Given the description of an element on the screen output the (x, y) to click on. 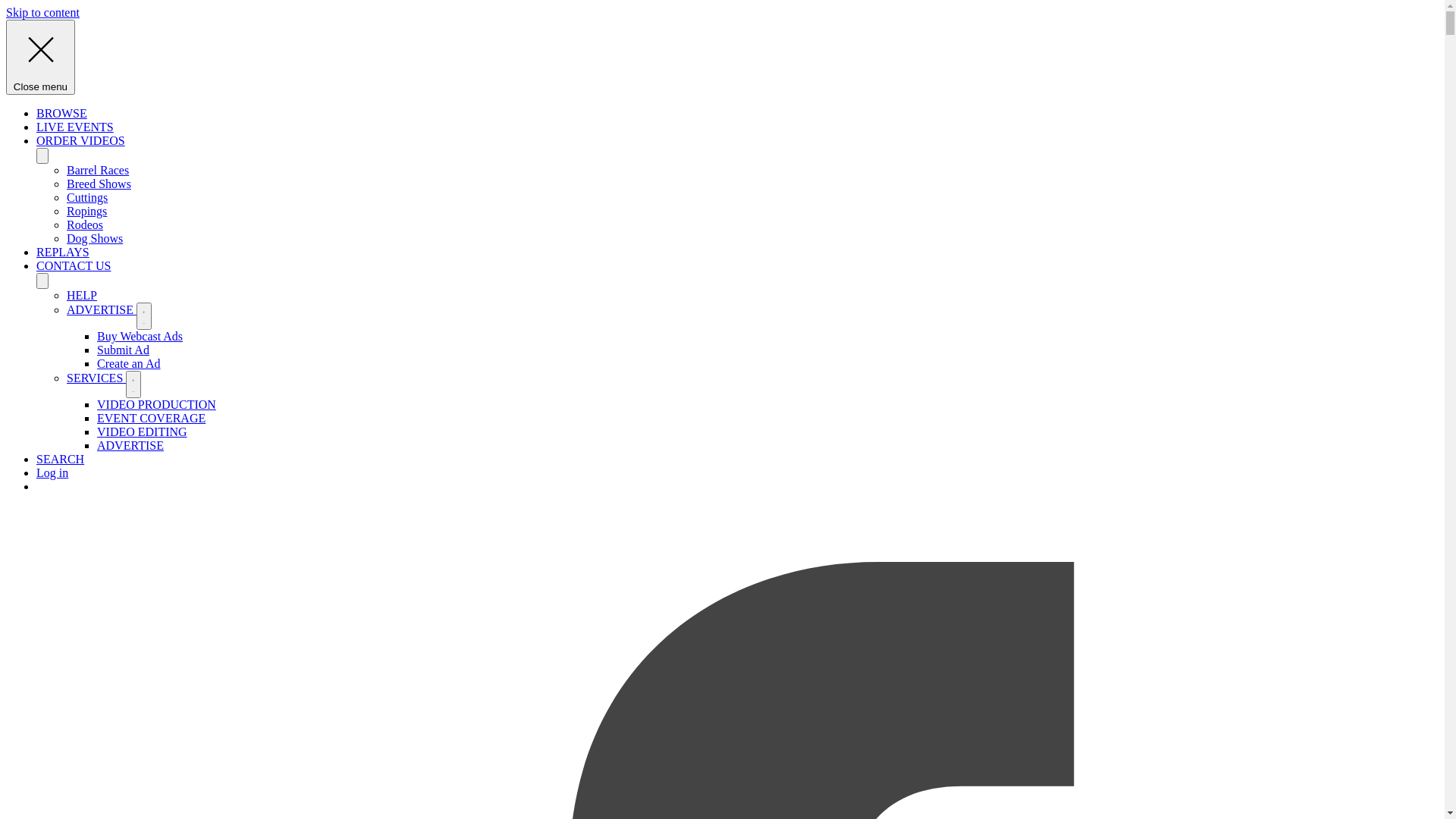
VIDEO EDITING Element type: text (142, 431)
SEARCH Element type: text (60, 458)
Dog Shows Element type: text (94, 238)
ORDER VIDEOS Element type: text (80, 140)
Ropings Element type: text (86, 210)
Create an Ad Element type: text (128, 363)
Buy Webcast Ads Element type: text (139, 335)
ADVERTISE Element type: text (101, 309)
Cuttings Element type: text (86, 197)
REPLAYS Element type: text (62, 251)
CONTACT US Element type: text (73, 265)
Rodeos Element type: text (84, 224)
Skip to content Element type: text (42, 12)
VIDEO PRODUCTION Element type: text (156, 404)
Submit Ad Element type: text (123, 349)
EVENT COVERAGE Element type: text (151, 417)
Barrel Races Element type: text (97, 169)
HELP Element type: text (81, 294)
Log in Element type: text (52, 472)
BROWSE Element type: text (61, 112)
ADVERTISE Element type: text (130, 445)
SERVICES Element type: text (95, 377)
Breed Shows Element type: text (98, 183)
LIVE EVENTS Element type: text (74, 126)
